Given the description of an element on the screen output the (x, y) to click on. 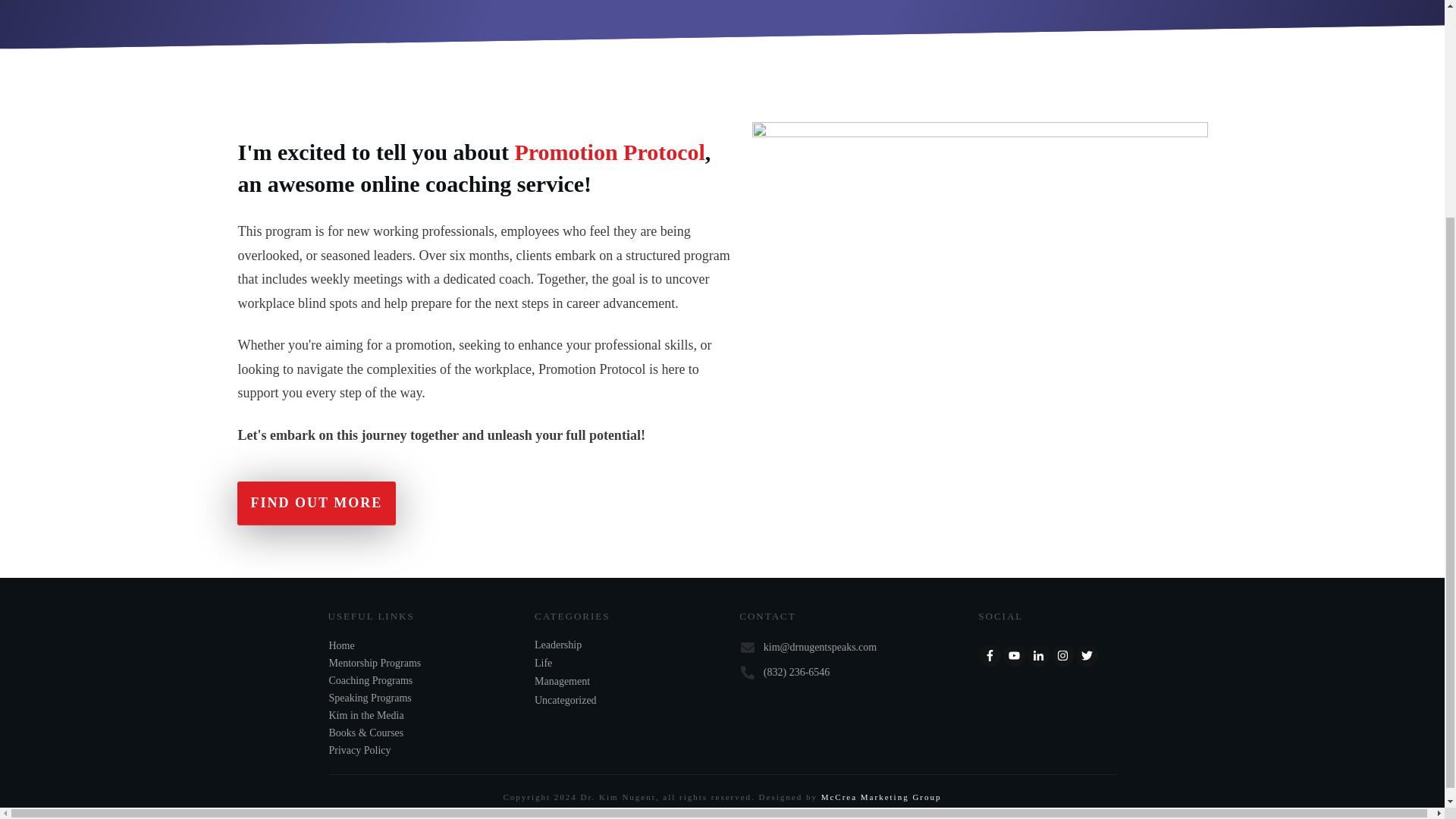
Speaking Programs (370, 697)
Mentorship Programs (375, 663)
Leadership (557, 645)
Privacy Policy (360, 749)
Coaching Programs (371, 680)
Kim in the Media (366, 715)
Home (342, 645)
FIND OUT MORE (315, 503)
